Given the description of an element on the screen output the (x, y) to click on. 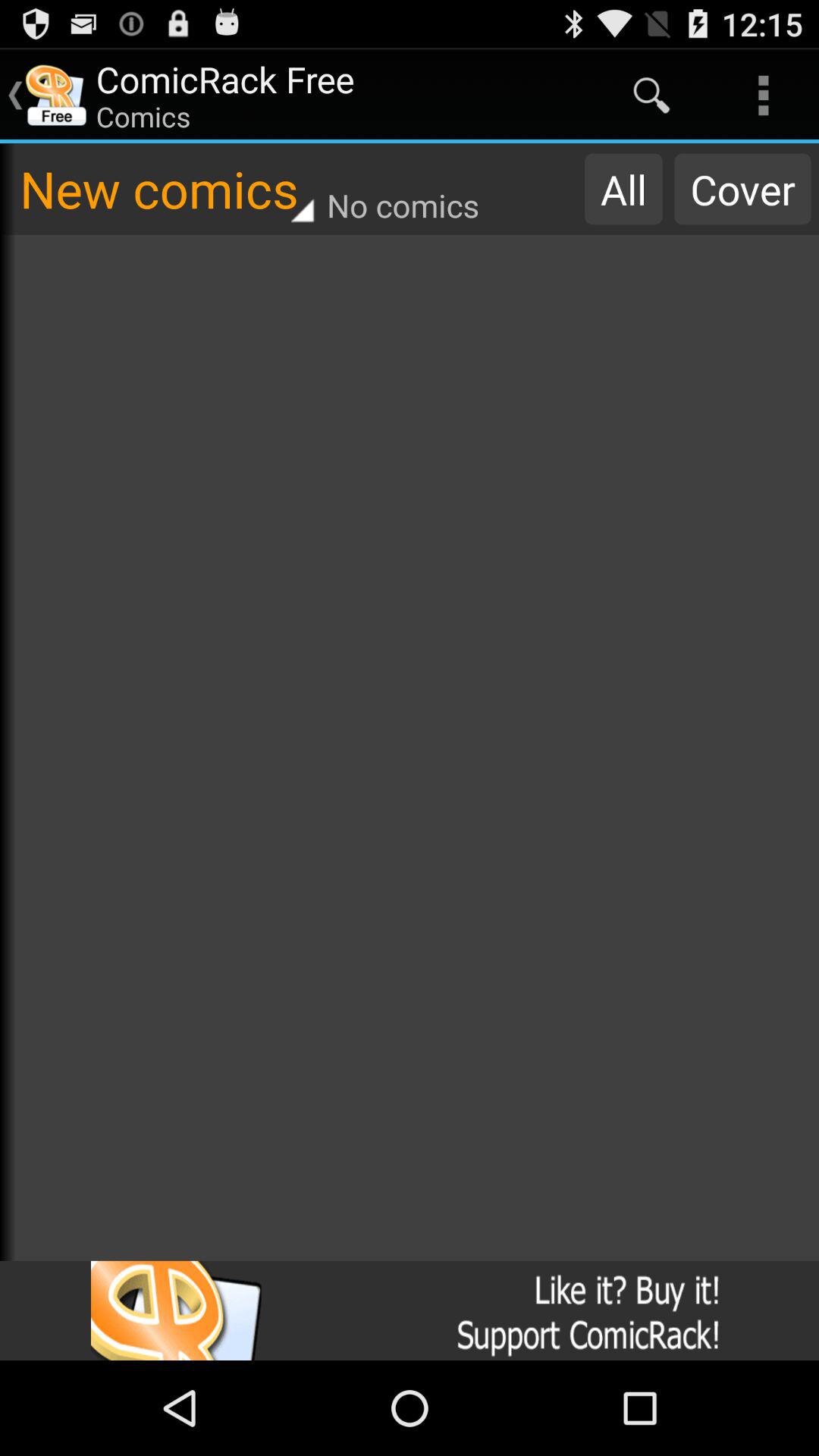
tap the item to the left of the cover app (623, 188)
